Given the description of an element on the screen output the (x, y) to click on. 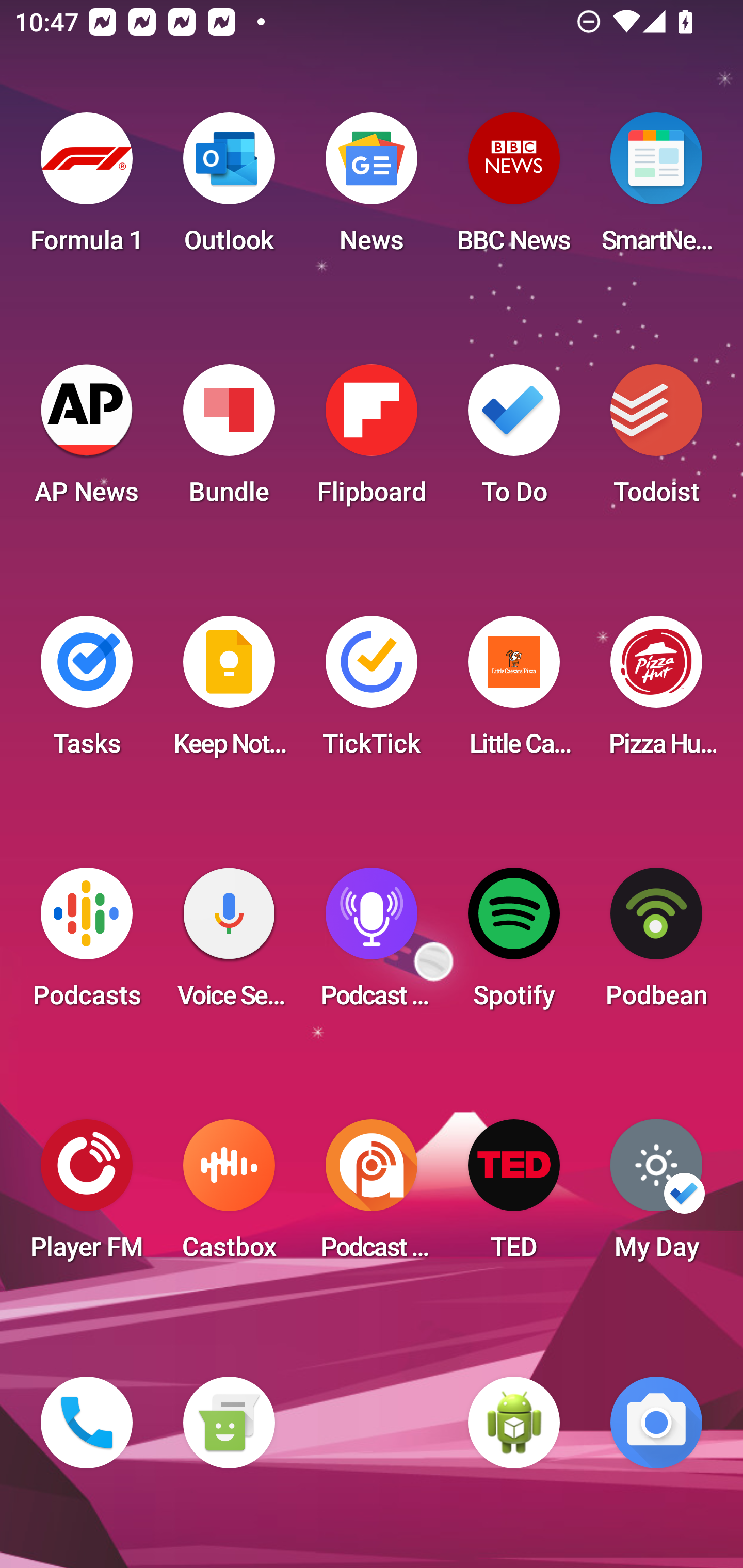
Formula 1 (86, 188)
Outlook (228, 188)
News (371, 188)
BBC News (513, 188)
SmartNews (656, 188)
AP News (86, 440)
Bundle (228, 440)
Flipboard (371, 440)
To Do (513, 440)
Todoist (656, 440)
Tasks (86, 692)
Keep Notes (228, 692)
TickTick (371, 692)
Little Caesars Pizza (513, 692)
Pizza Hut HK & Macau (656, 692)
Podcasts (86, 943)
Voice Search (228, 943)
Podcast Player (371, 943)
Spotify (513, 943)
Podbean (656, 943)
Player FM (86, 1195)
Castbox (228, 1195)
Podcast Addict (371, 1195)
TED (513, 1195)
My Day (656, 1195)
Phone (86, 1422)
Messaging (228, 1422)
WebView Browser Tester (513, 1422)
Camera (656, 1422)
